Given the description of an element on the screen output the (x, y) to click on. 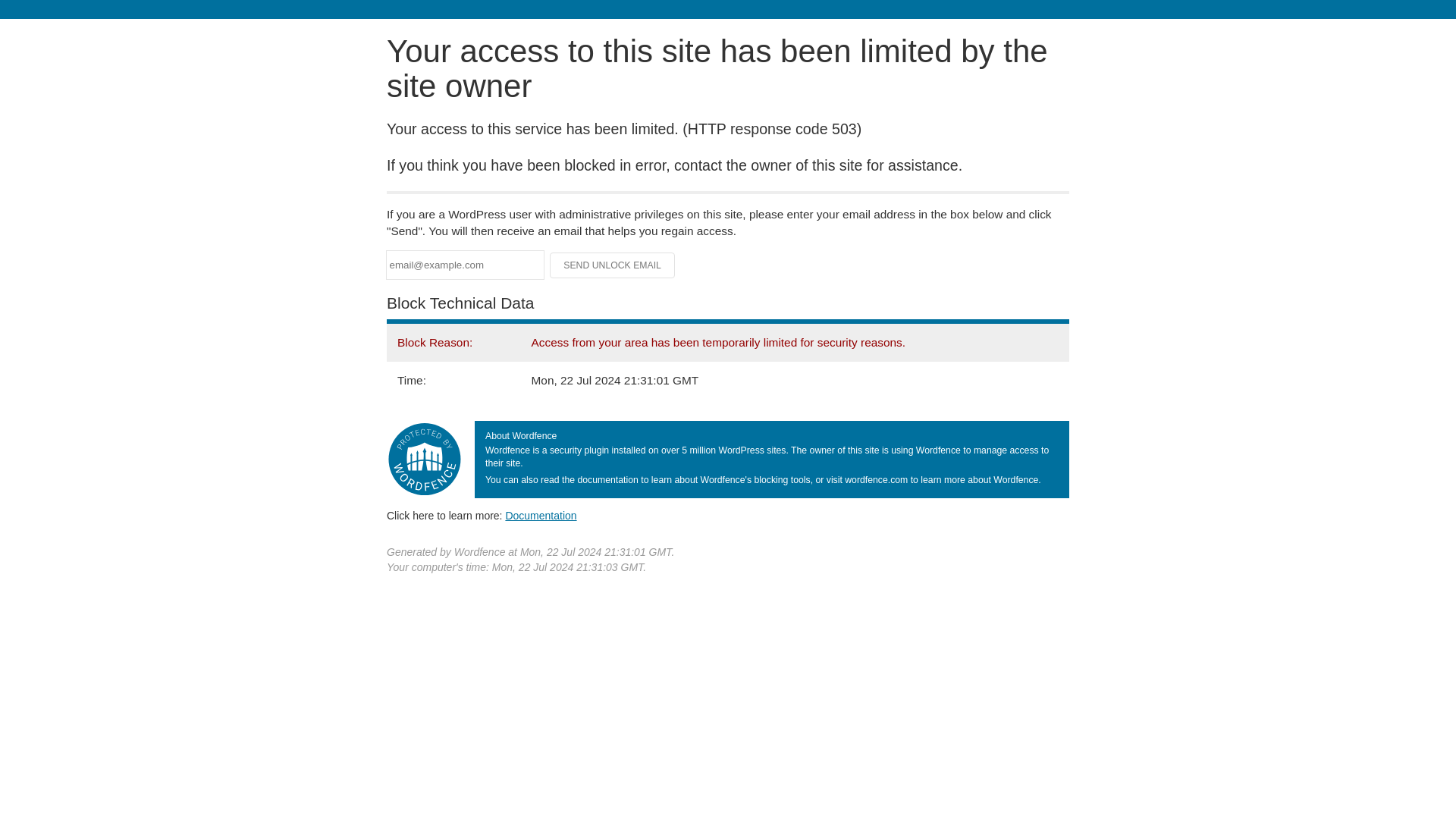
Documentation (540, 515)
Send Unlock Email (612, 265)
Send Unlock Email (612, 265)
